Given the description of an element on the screen output the (x, y) to click on. 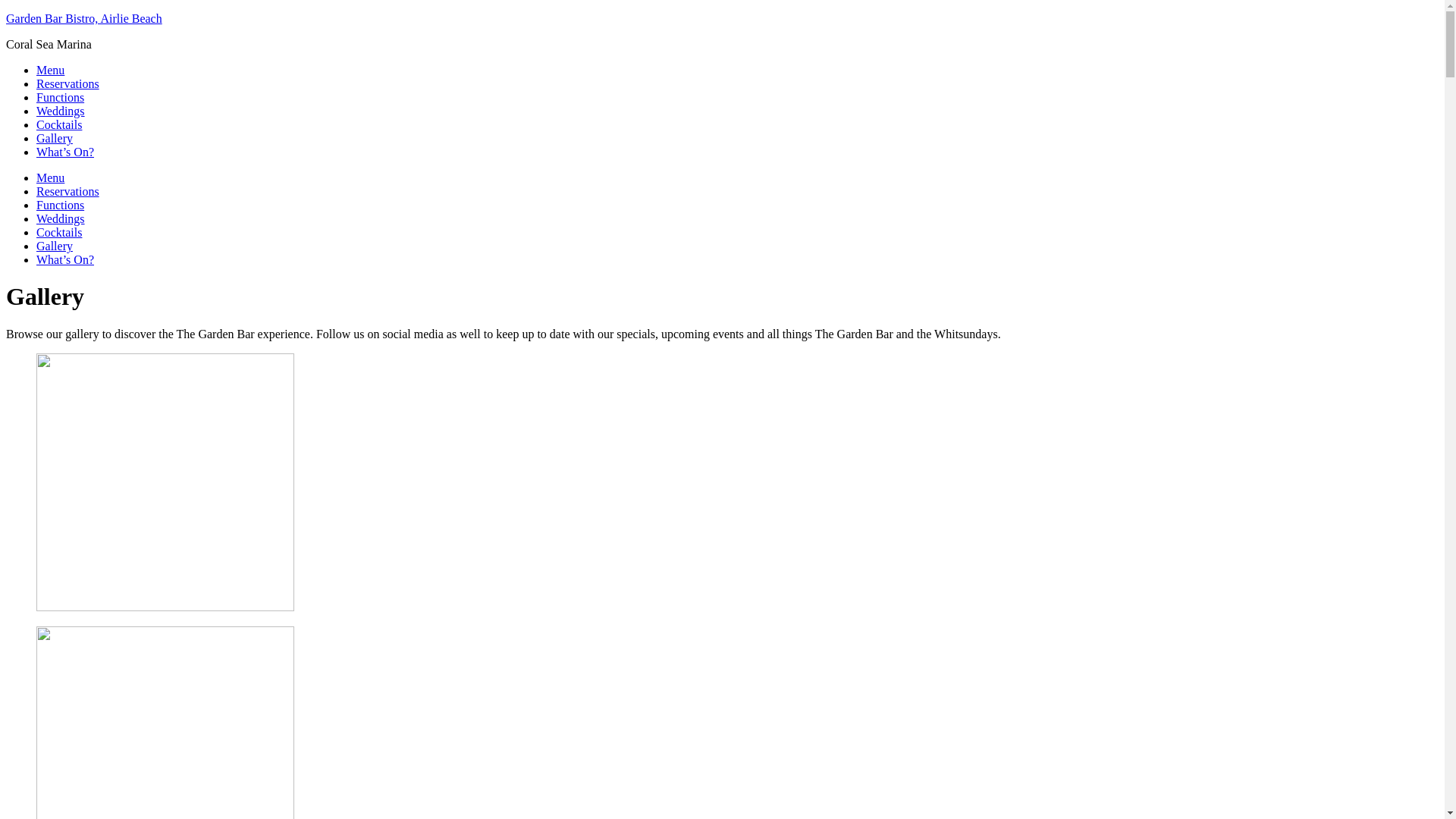
Reservations Element type: text (67, 191)
Menu Element type: text (50, 177)
Menu Element type: text (50, 69)
Gallery Element type: text (54, 245)
Reservations Element type: text (67, 83)
Gallery Element type: text (54, 137)
Cocktails Element type: text (58, 124)
Weddings Element type: text (60, 110)
Functions Element type: text (60, 204)
Cocktails Element type: text (58, 231)
Garden Bar Bistro, Airlie Beach Element type: text (84, 18)
Functions Element type: text (60, 97)
Weddings Element type: text (60, 218)
